Given the description of an element on the screen output the (x, y) to click on. 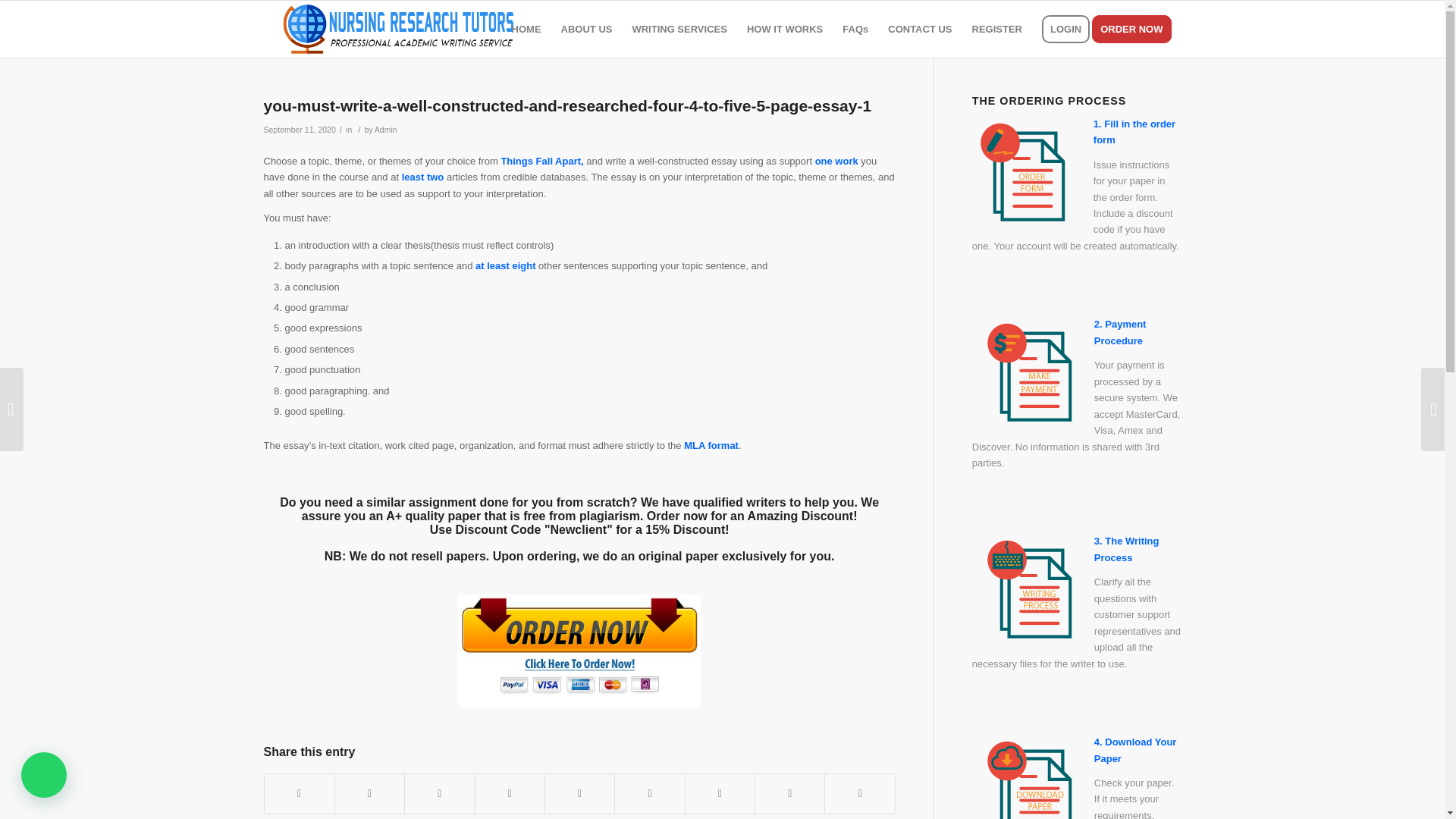
WRITING SERVICES (678, 28)
ABOUT US (587, 28)
CONTACT US (918, 28)
REGISTER (997, 28)
Posts by Admin (385, 129)
LOGIN (1065, 28)
Admin (385, 129)
ORDER NOW (1136, 28)
